Given the description of an element on the screen output the (x, y) to click on. 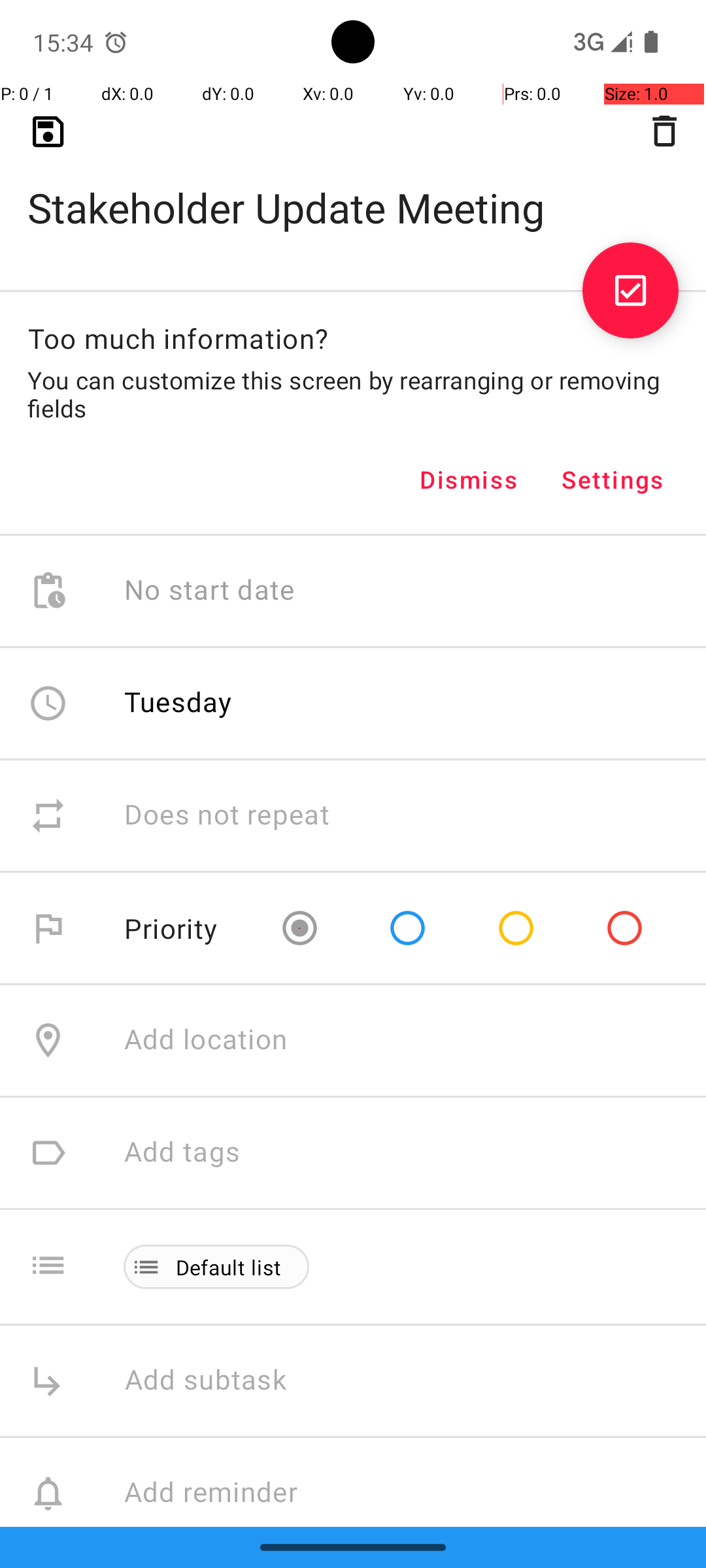
Stakeholder Update Meeting Element type: android.widget.EditText (353, 186)
